Given the description of an element on the screen output the (x, y) to click on. 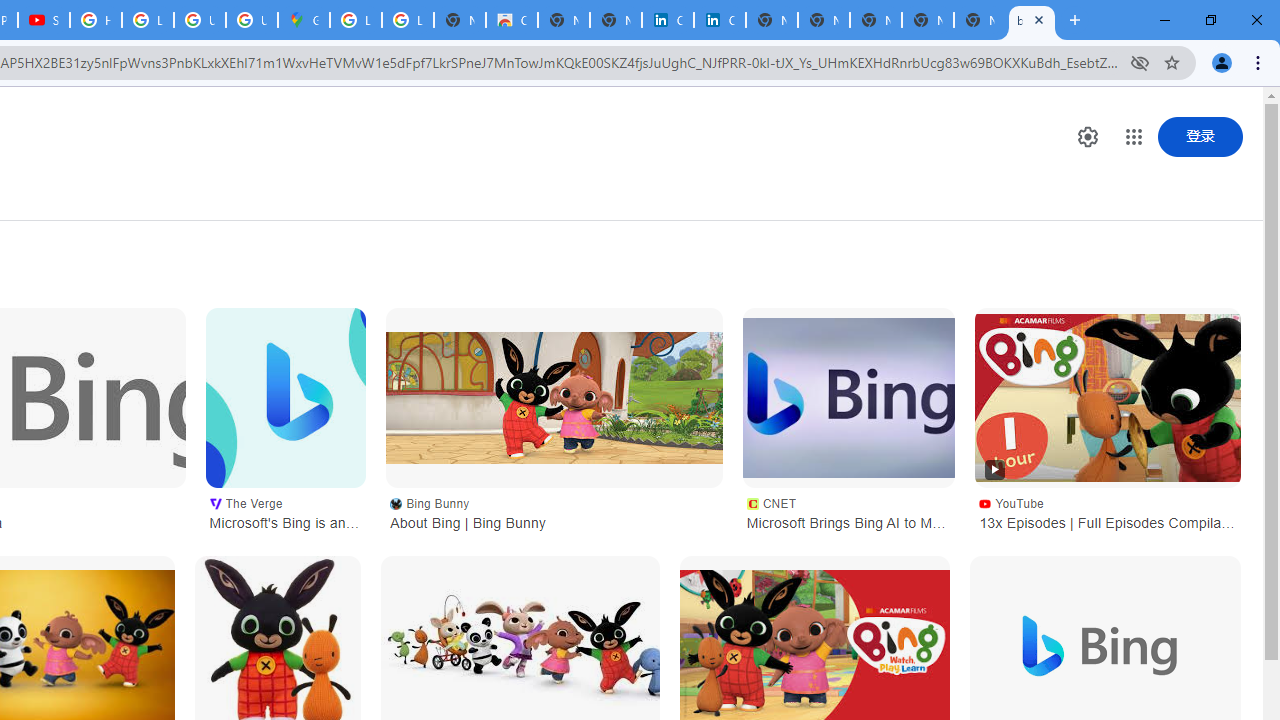
Cookie Policy | LinkedIn (667, 20)
Cookie Policy | LinkedIn (719, 20)
New Tab (979, 20)
Google Maps (303, 20)
Microsoft Brings Bing AI to More Browsers - CNET (849, 398)
